Given the description of an element on the screen output the (x, y) to click on. 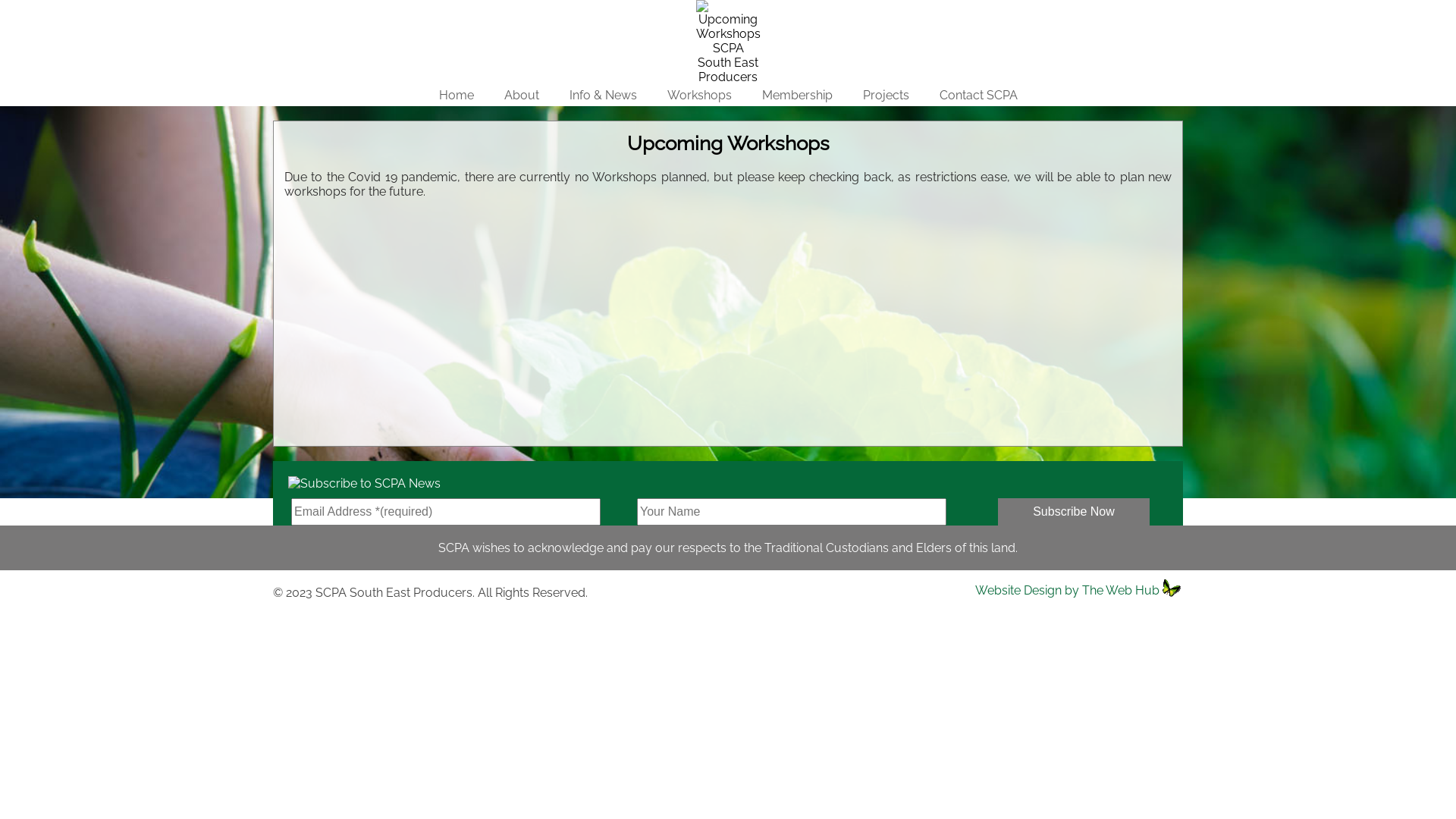
Contact SCPA Element type: text (977, 10)
Membership Element type: text (796, 95)
Projects Element type: text (885, 95)
About Element type: text (520, 10)
Projects Element type: text (885, 10)
Info & News Element type: text (602, 10)
Subscribe Now Element type: text (1073, 511)
Membership Element type: text (796, 10)
Website Designed and Created by The Web Hub Element type: hover (1172, 588)
Home Element type: text (455, 95)
Workshops Element type: text (699, 95)
About Element type: text (520, 95)
Info & News Element type: text (602, 95)
Upcoming Workshops SCPA South East Producers Element type: hover (728, 42)
Website Design by The Web Hub Element type: text (1067, 590)
Home Element type: text (455, 10)
Workshops Element type: text (699, 10)
Subscribe to SCPA News Element type: hover (356, 479)
Contact SCPA Element type: text (977, 95)
